Given the description of an element on the screen output the (x, y) to click on. 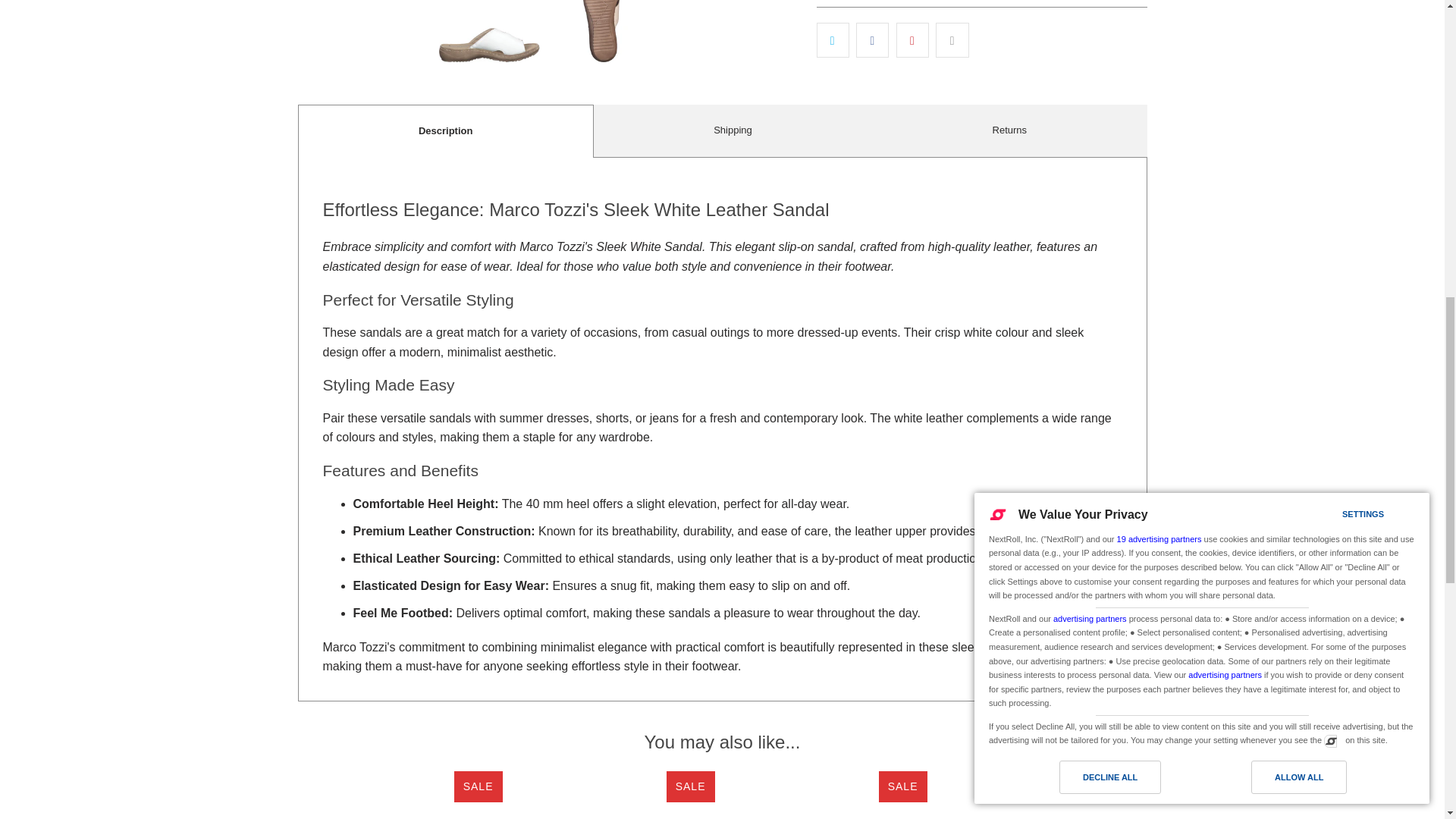
Share this on Twitter (831, 39)
Email this to a friend (952, 39)
Share this on Pinterest (912, 39)
Share this on Facebook (872, 39)
